Given the description of an element on the screen output the (x, y) to click on. 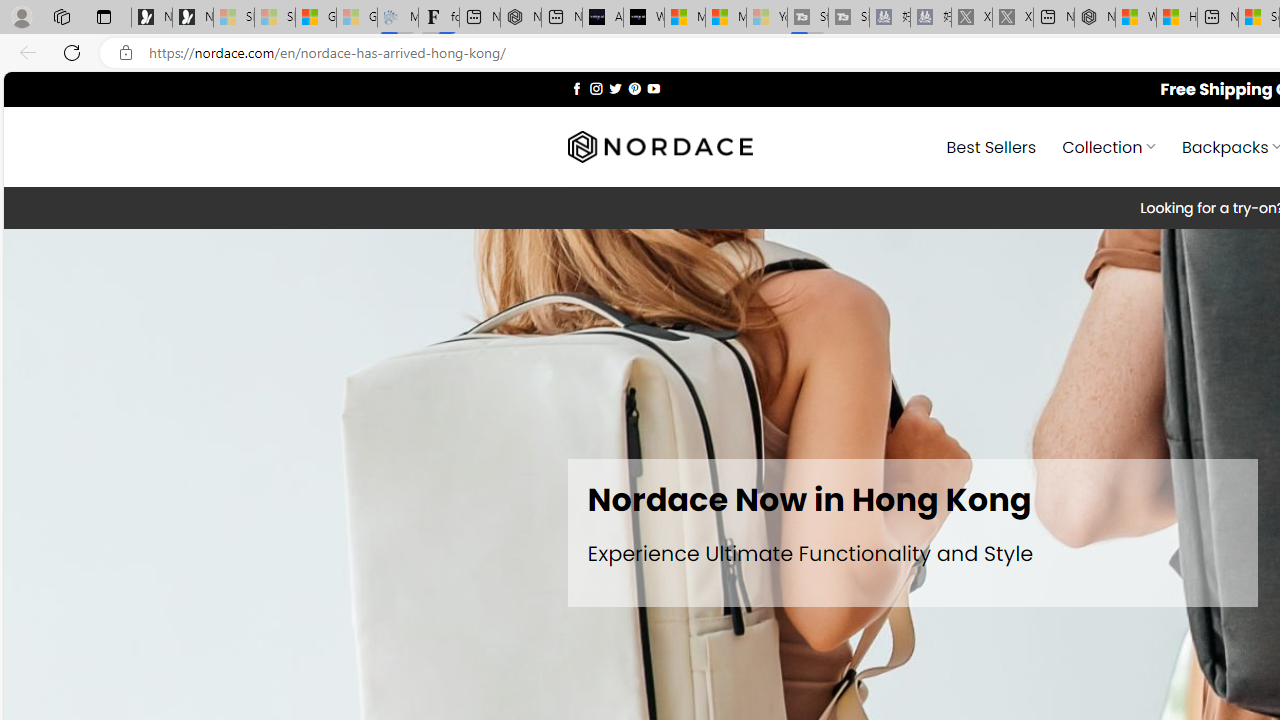
Microsoft Start Sports (684, 17)
Nordace - #1 Japanese Best-Seller - Siena Smart Backpack (520, 17)
  Best Sellers (990, 146)
What's the best AI voice generator? - voice.ai (643, 17)
X - Sleeping (1012, 17)
